Given the description of an element on the screen output the (x, y) to click on. 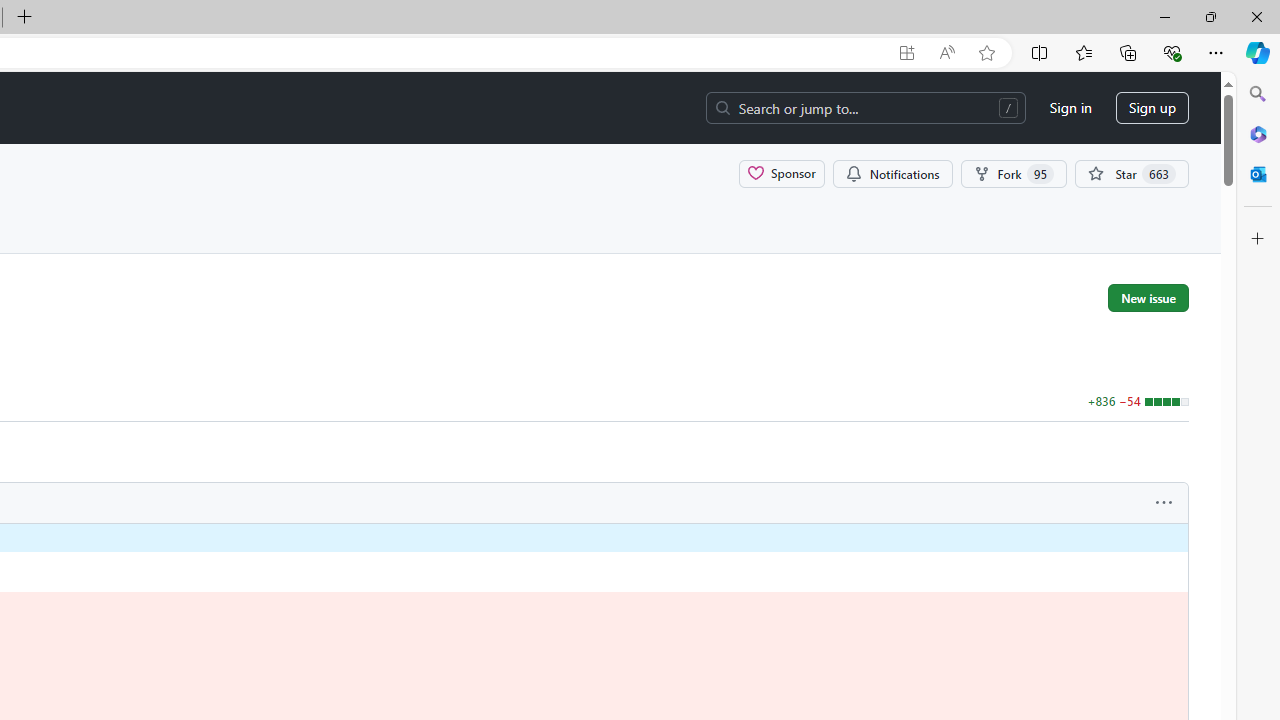
Fork 95 (1013, 173)
Sign up (1152, 107)
 Star 663 (1132, 173)
Sponsor (781, 173)
